Given the description of an element on the screen output the (x, y) to click on. 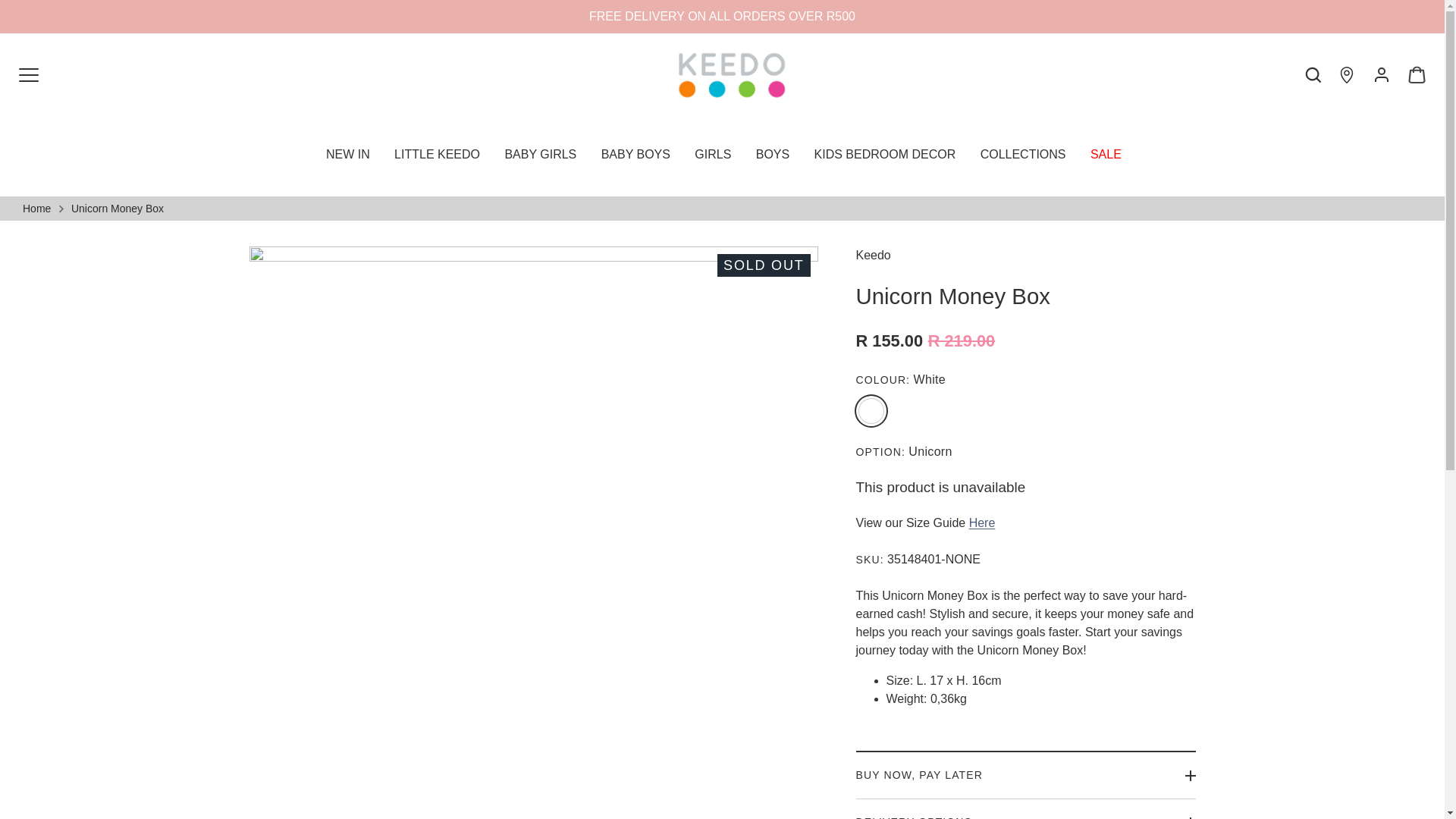
NEW IN (347, 154)
LITTLE KEEDO (436, 154)
Size Guide (982, 522)
BABY BOYS (635, 154)
BABY GIRLS (540, 154)
